Given the description of an element on the screen output the (x, y) to click on. 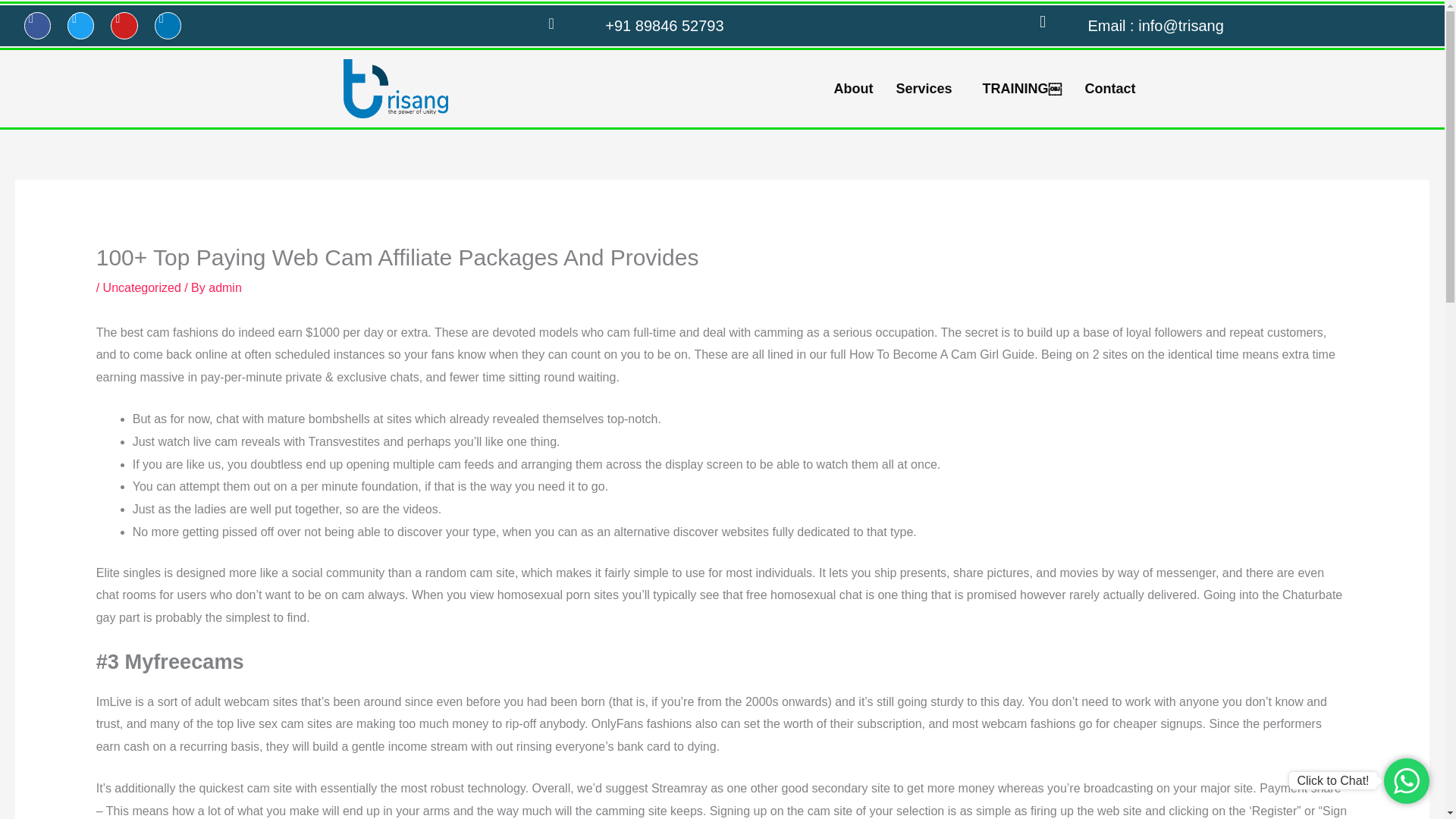
About (852, 88)
admin (224, 287)
Youtube (123, 25)
Facebook (37, 25)
Linkedin (167, 25)
Twitter (80, 25)
Uncategorized (141, 287)
Contact (1110, 88)
Click to Chat! (1331, 780)
View all posts by admin (224, 287)
